Given the description of an element on the screen output the (x, y) to click on. 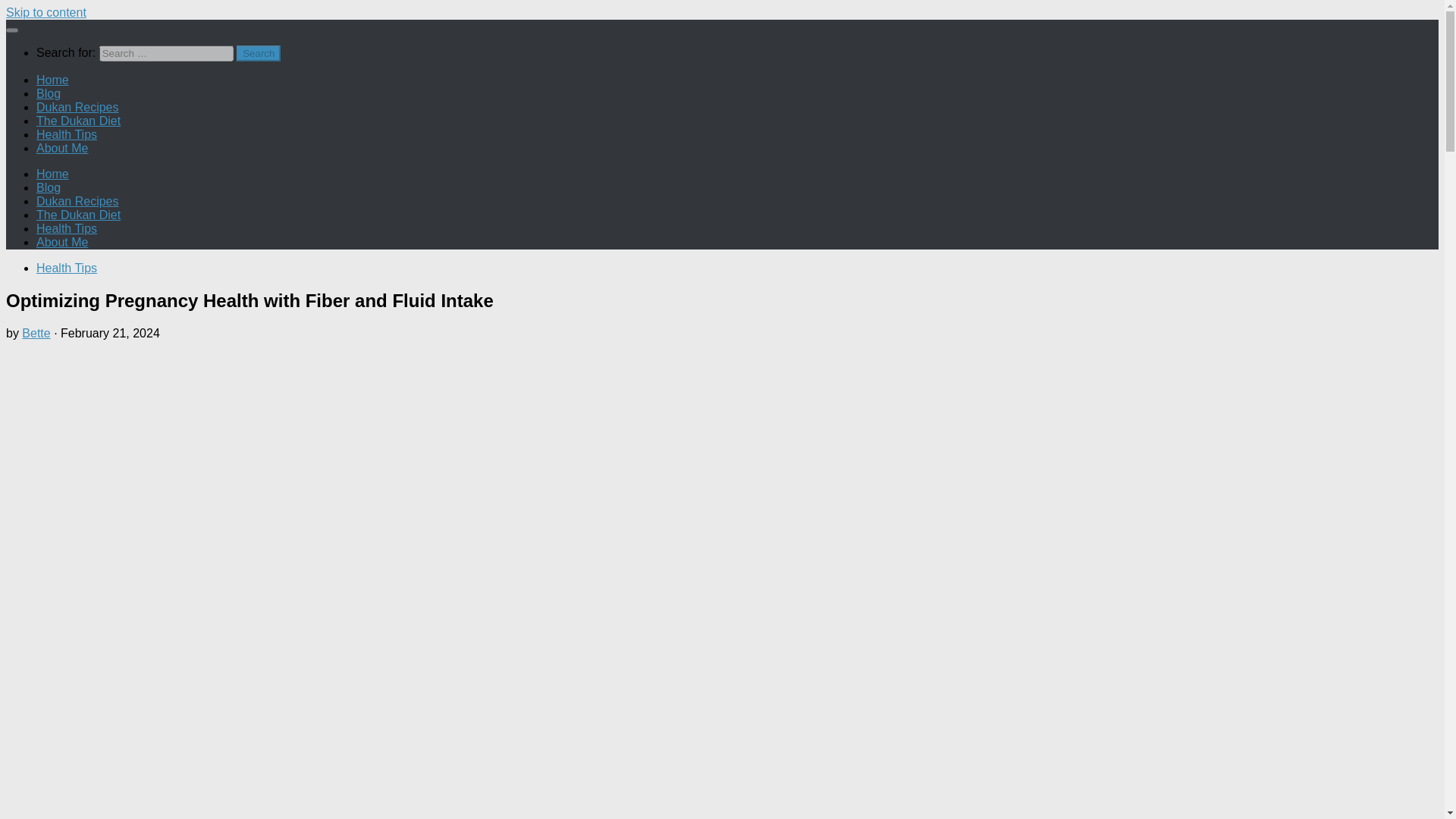
Bette (35, 332)
Search (258, 53)
Dukan Recipes (77, 201)
The Dukan Diet (78, 214)
Health Tips (66, 267)
Home (52, 79)
Health Tips (66, 228)
Search (258, 53)
About Me (61, 241)
Menu (11, 29)
